Given the description of an element on the screen output the (x, y) to click on. 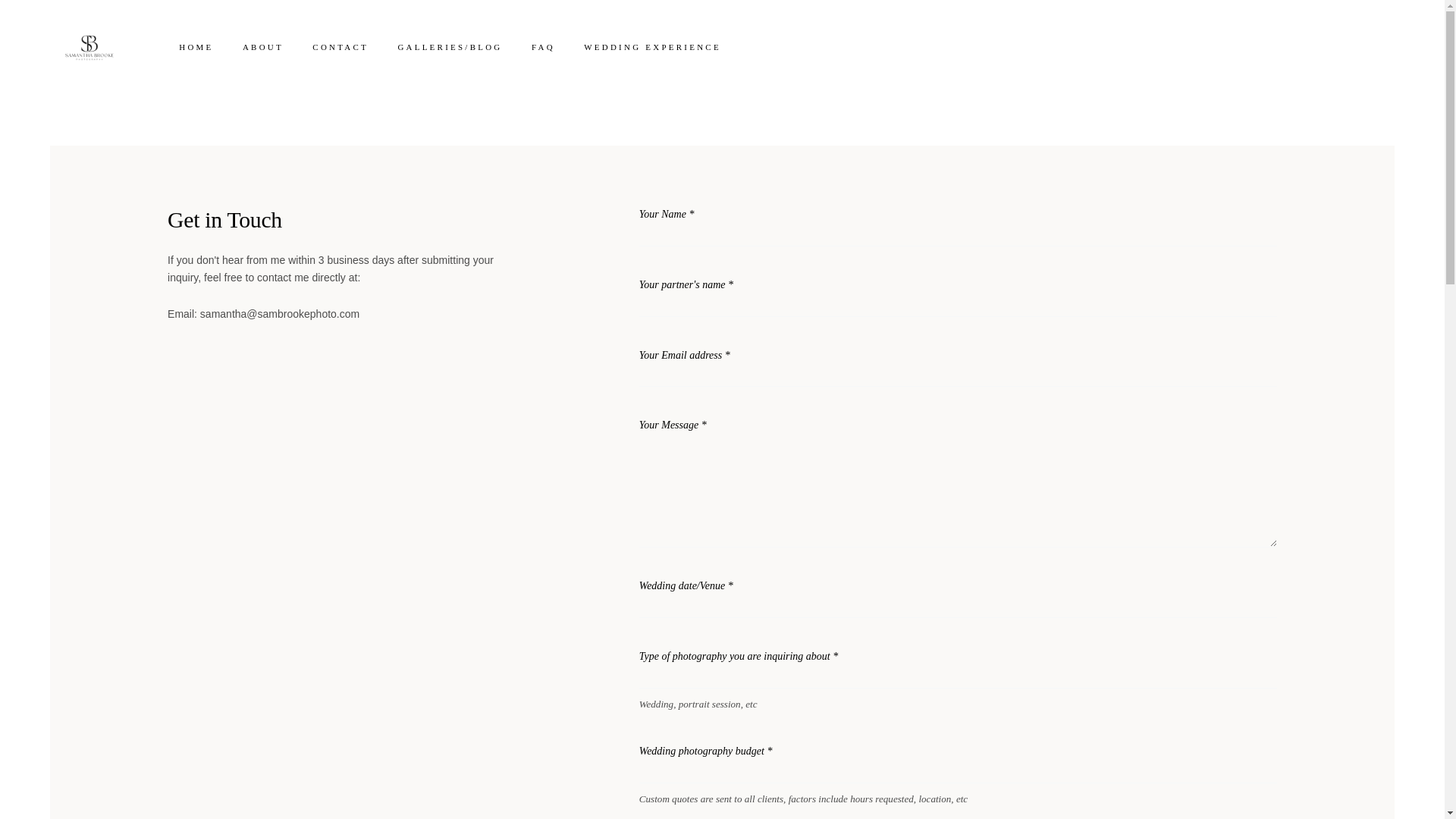
WEDDING EXPERIENCE (652, 47)
ABOUT (263, 47)
HOME (196, 47)
CONTACT (340, 47)
FAQ (542, 47)
